Given the description of an element on the screen output the (x, y) to click on. 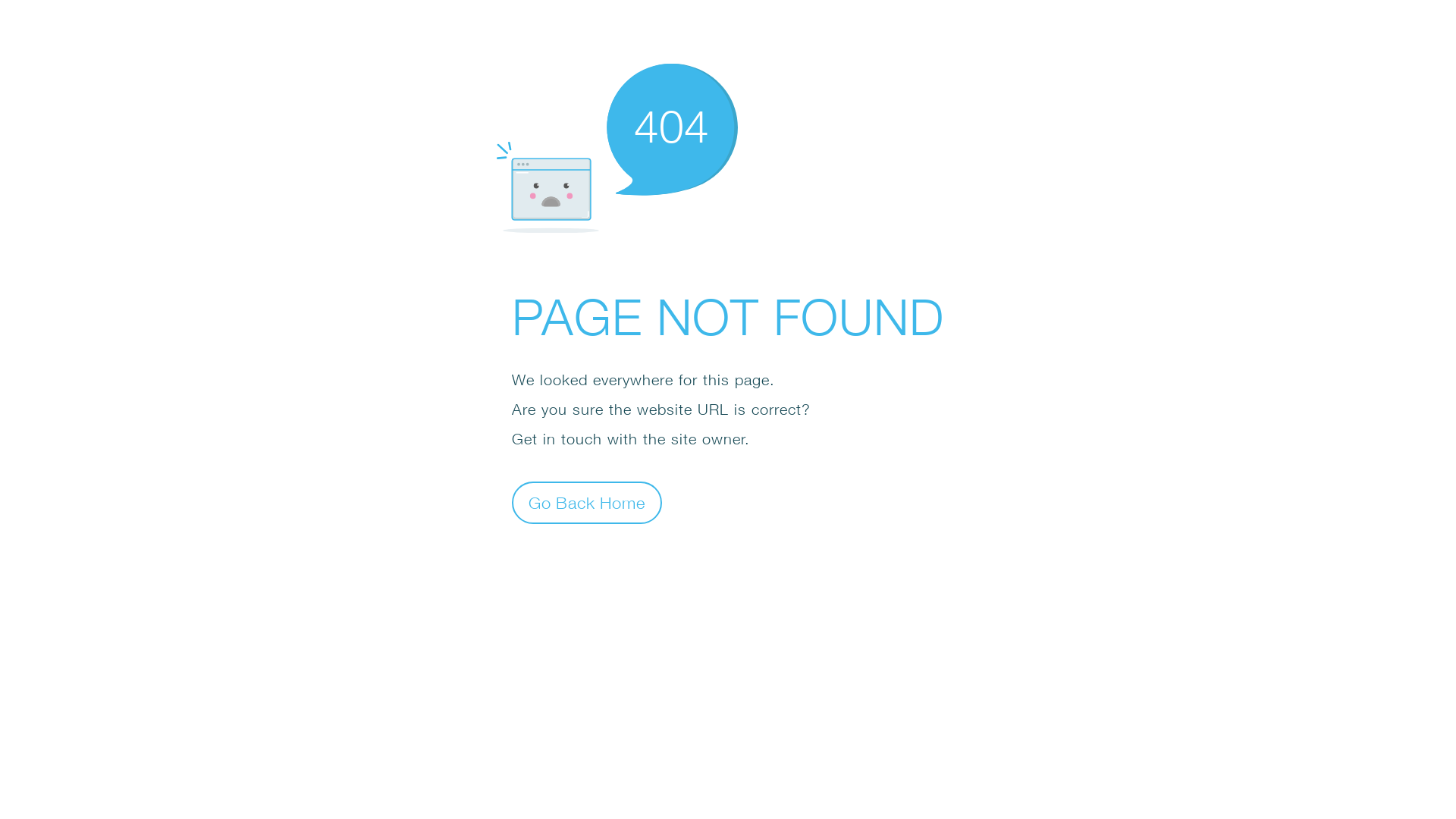
Go Back Home Element type: text (586, 502)
